Given the description of an element on the screen output the (x, y) to click on. 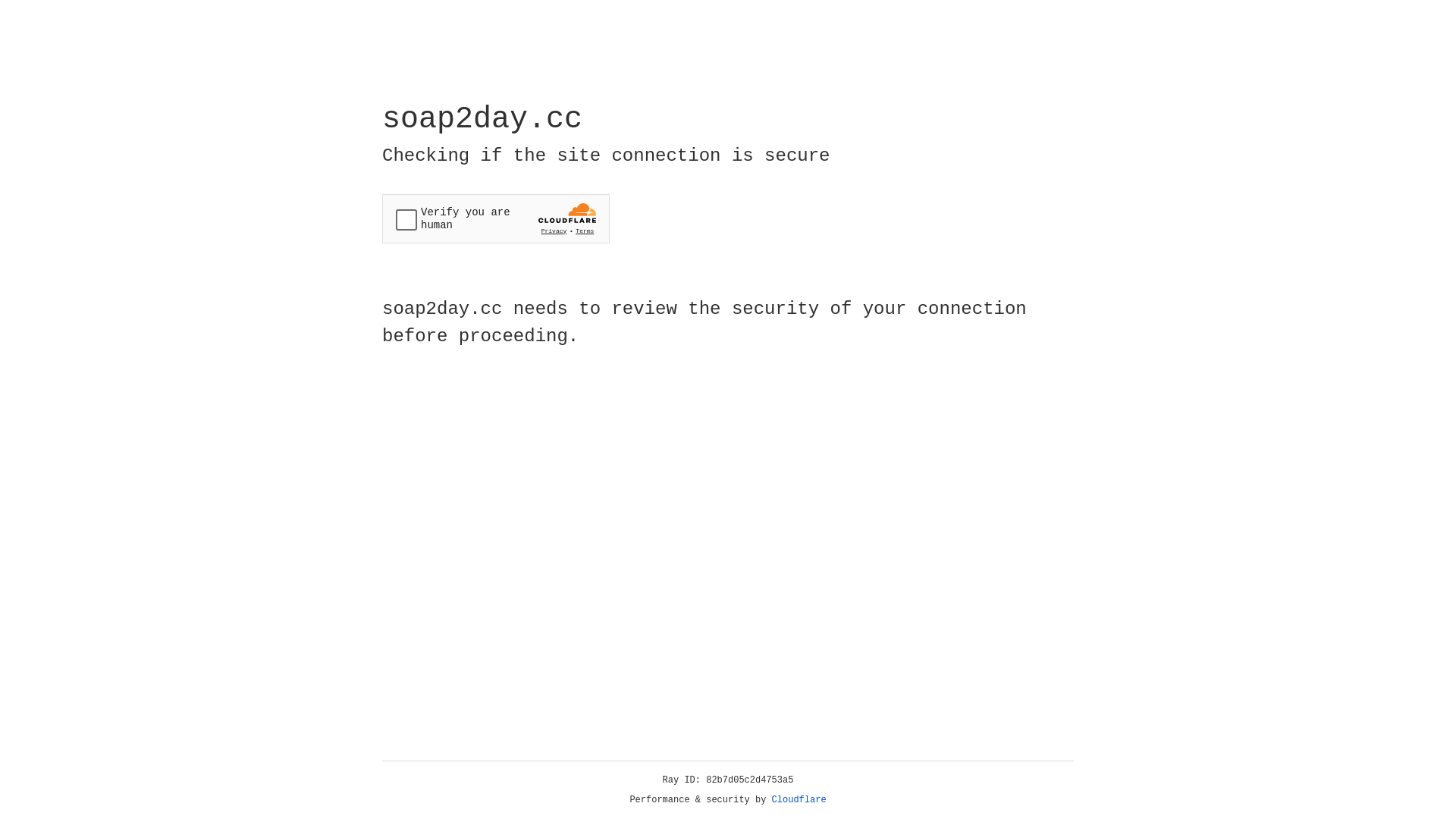
Widget containing a Cloudflare security challenge Element type: hover (495, 218)
Cloudflare Element type: text (798, 799)
